Given the description of an element on the screen output the (x, y) to click on. 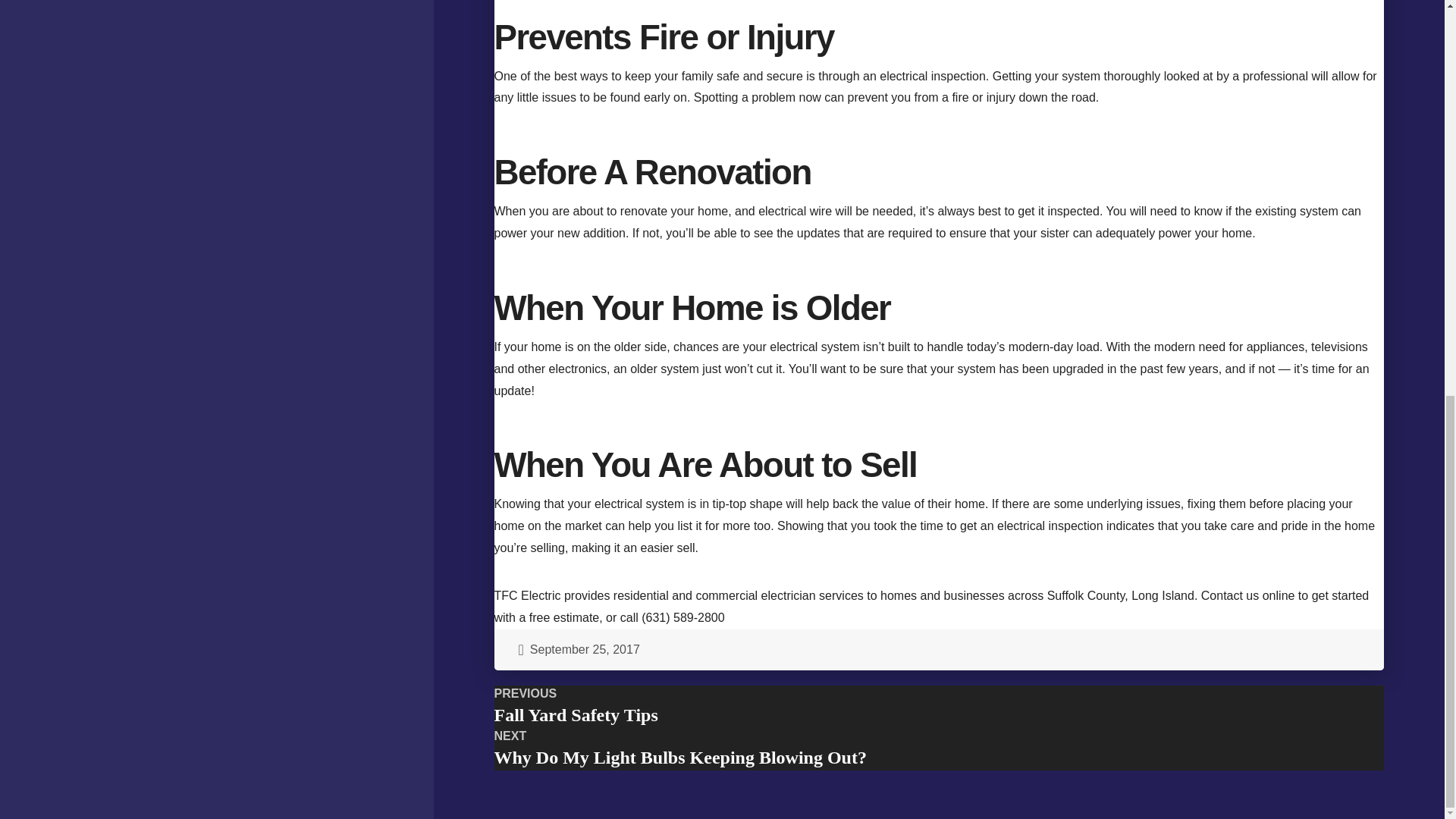
September 25, 2017 (939, 649)
Contact us  (939, 749)
TFC Electric (1231, 594)
